Given the description of an element on the screen output the (x, y) to click on. 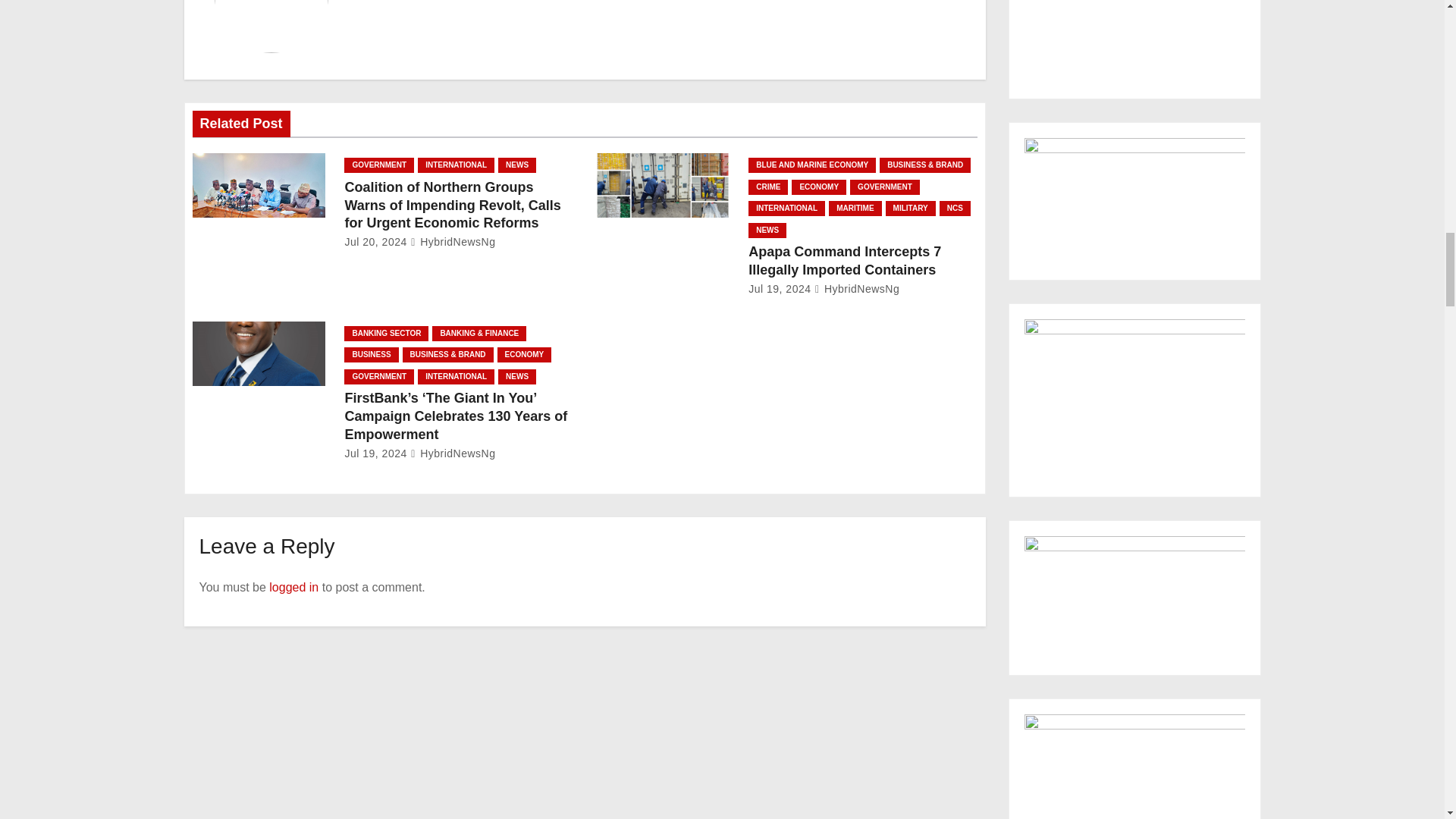
INTERNATIONAL (456, 165)
GOVERNMENT (378, 165)
